Given the description of an element on the screen output the (x, y) to click on. 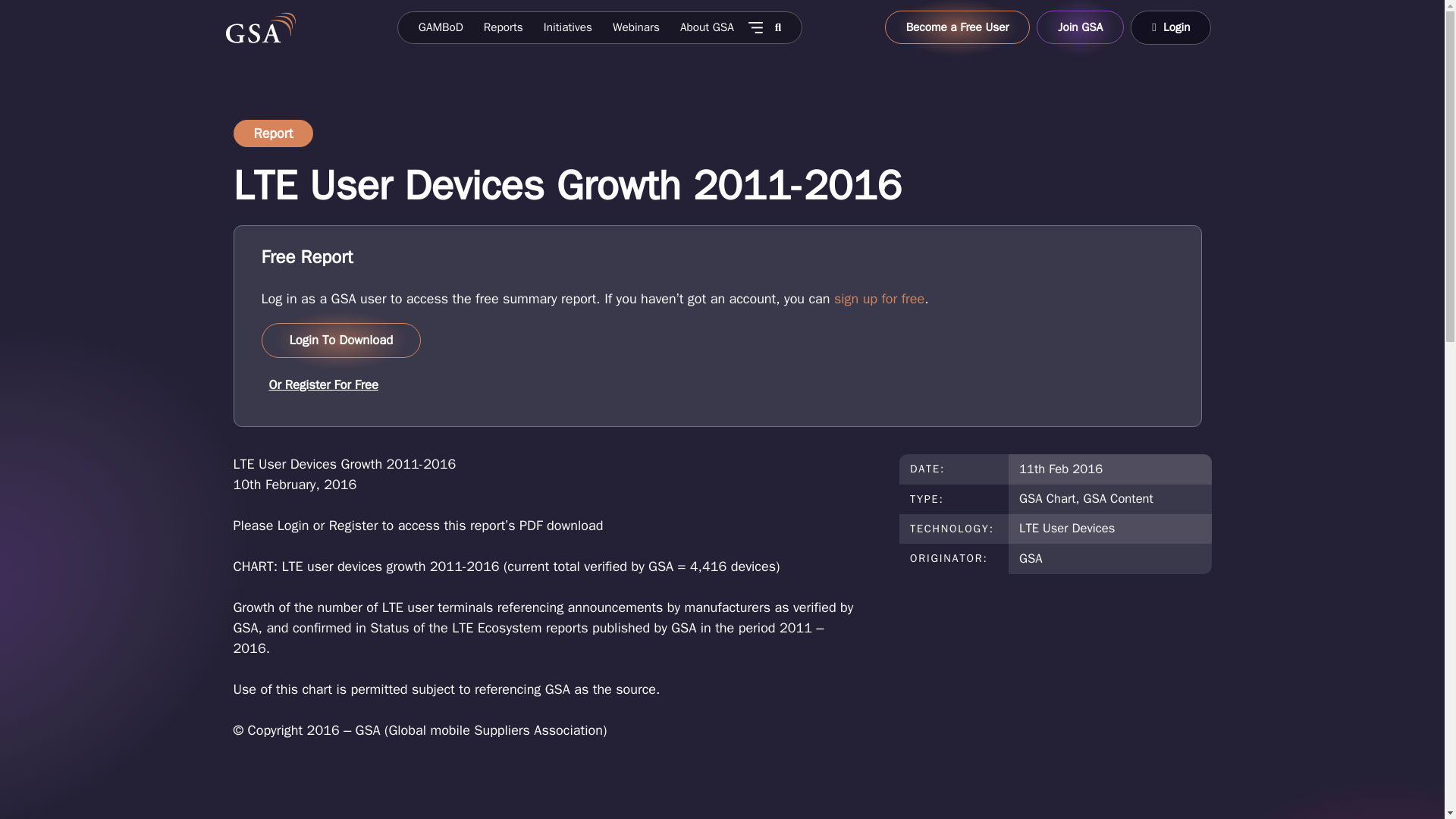
Webinars (635, 27)
GAMBoD (440, 27)
Initiatives (567, 27)
Reports (502, 27)
About GSA (706, 27)
